Given the description of an element on the screen output the (x, y) to click on. 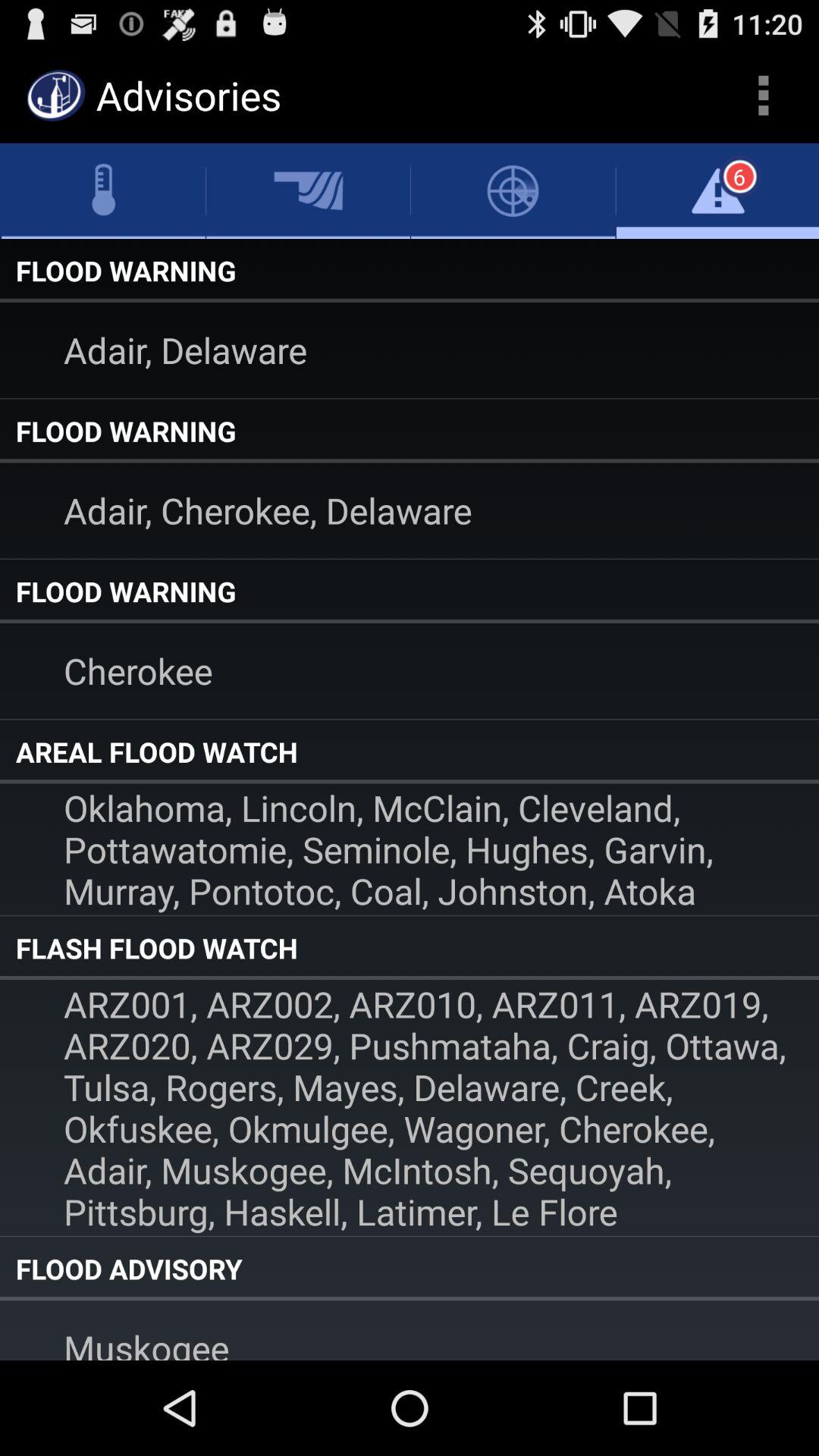
flip until the oklahoma lincoln mcclain app (409, 849)
